Given the description of an element on the screen output the (x, y) to click on. 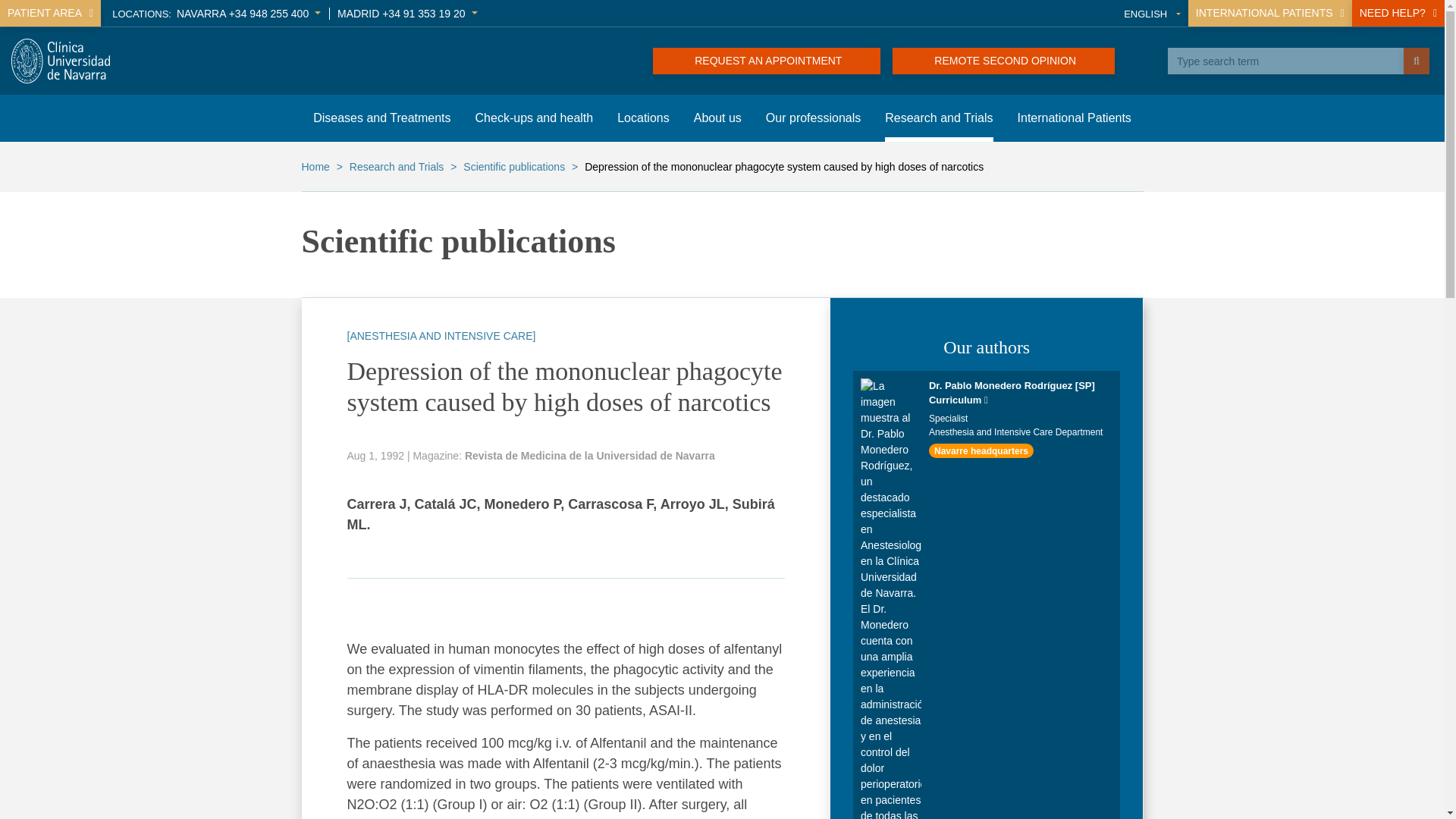
Diseases and Treatments (381, 118)
NAVARRA (248, 13)
Check-ups and health (535, 118)
Diseases and Treatments (381, 118)
MADRID (407, 13)
About us (717, 118)
PATIENT AREA (50, 13)
REMOTE SECOND OPINION (1003, 60)
Check-ups and health (535, 118)
ENGLISH (1152, 13)
